Given the description of an element on the screen output the (x, y) to click on. 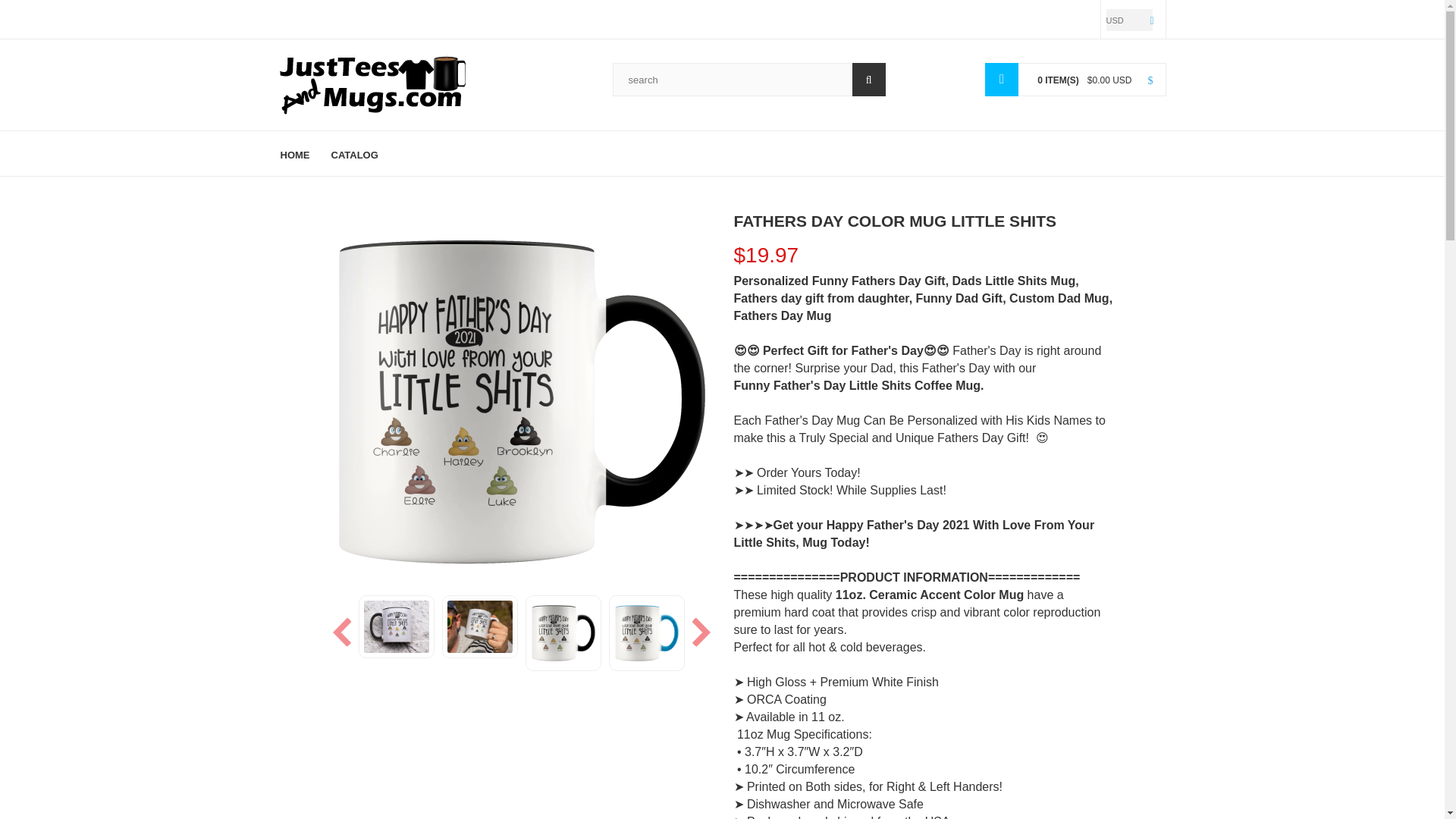
CATALOG (354, 153)
HOME (299, 153)
